Given the description of an element on the screen output the (x, y) to click on. 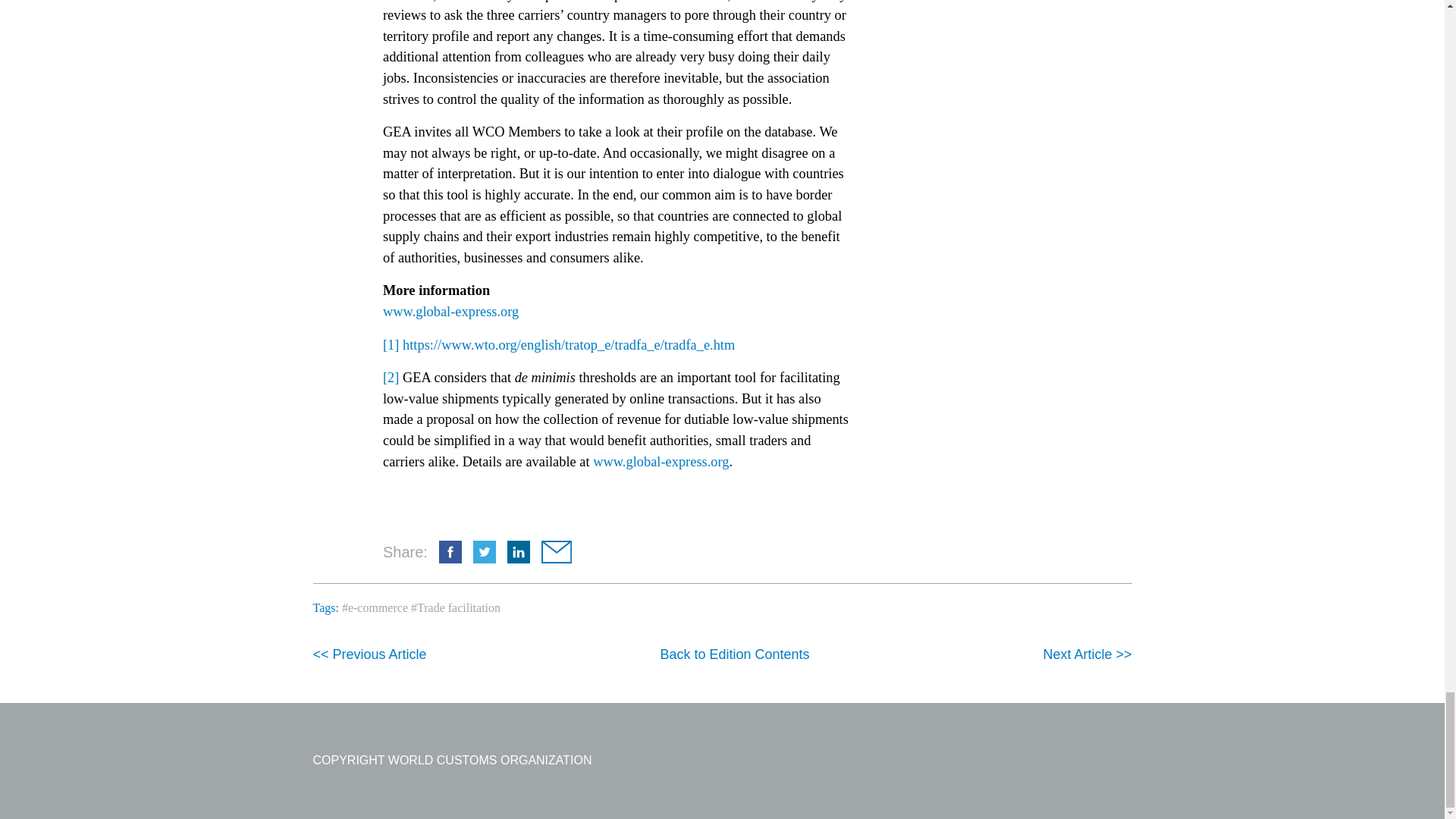
www.global-express.org (450, 311)
www.global-express.org (660, 461)
